Given the description of an element on the screen output the (x, y) to click on. 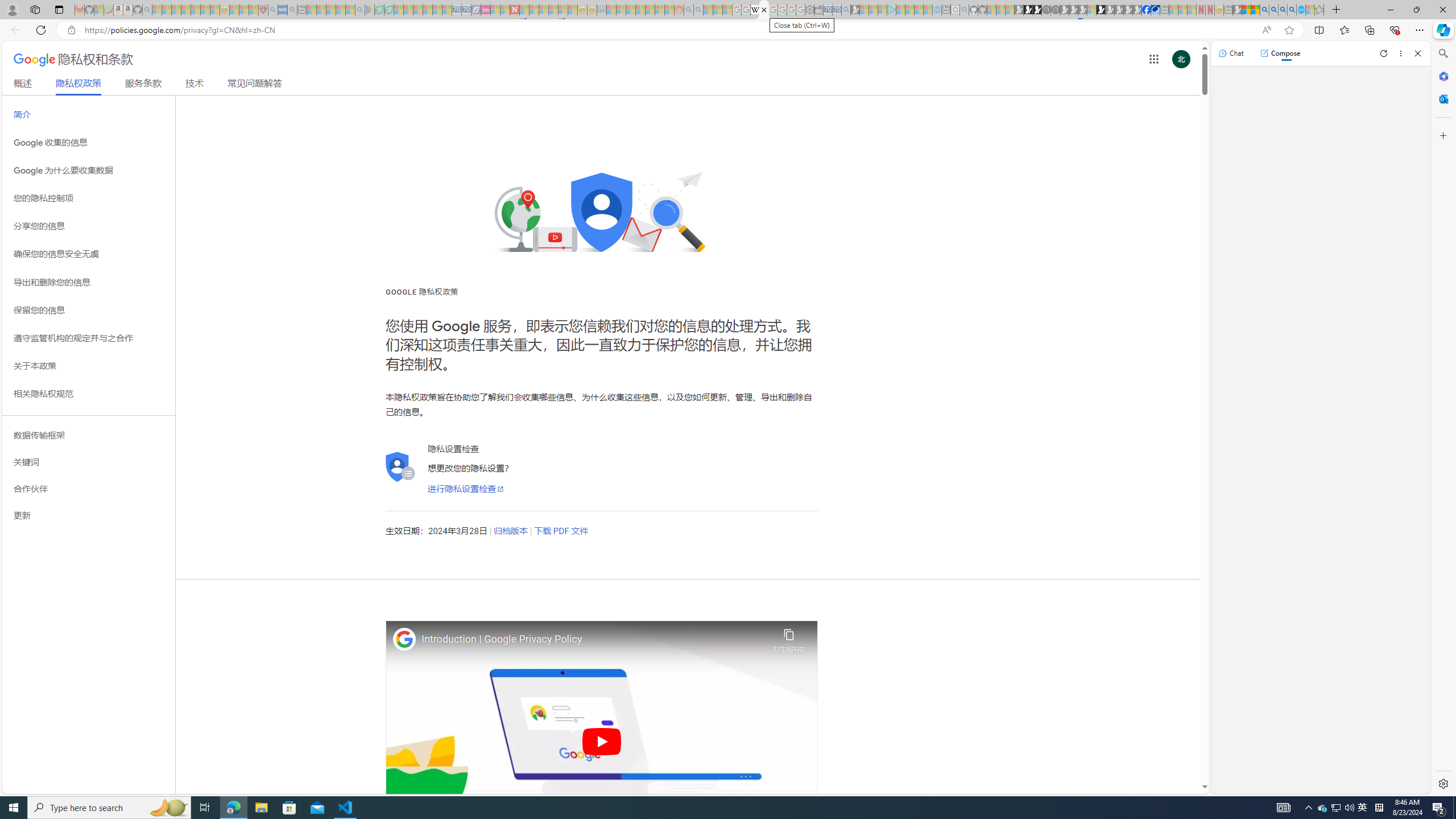
Favorites - Sleeping (1318, 9)
